Given the description of an element on the screen output the (x, y) to click on. 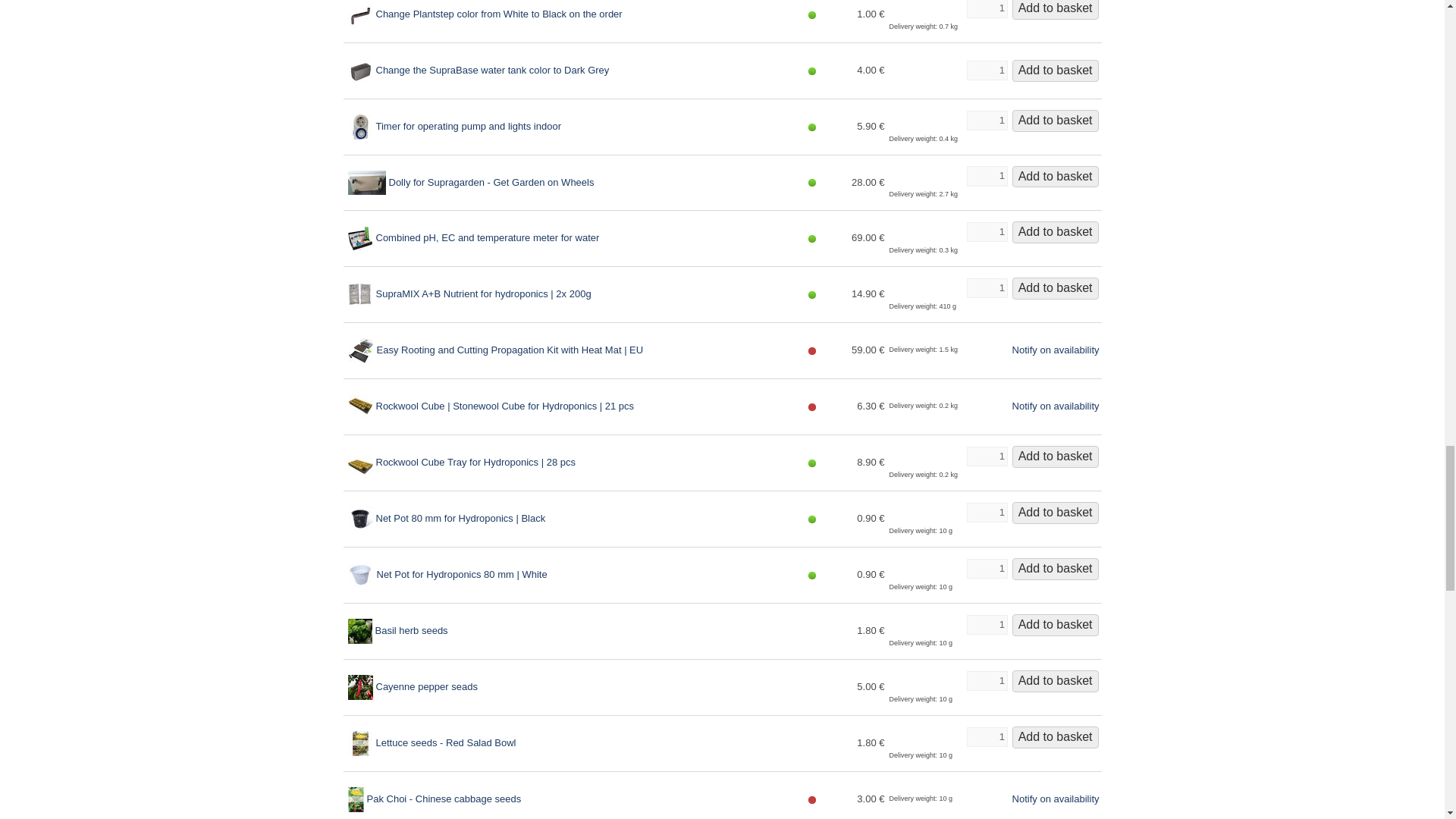
1 (986, 175)
1 (986, 9)
1 (986, 70)
1 (986, 288)
Add to basket (1055, 9)
1 (986, 231)
Many units on stock (812, 70)
1 (986, 456)
1 (986, 120)
Many units on stock (812, 15)
